Given the description of an element on the screen output the (x, y) to click on. 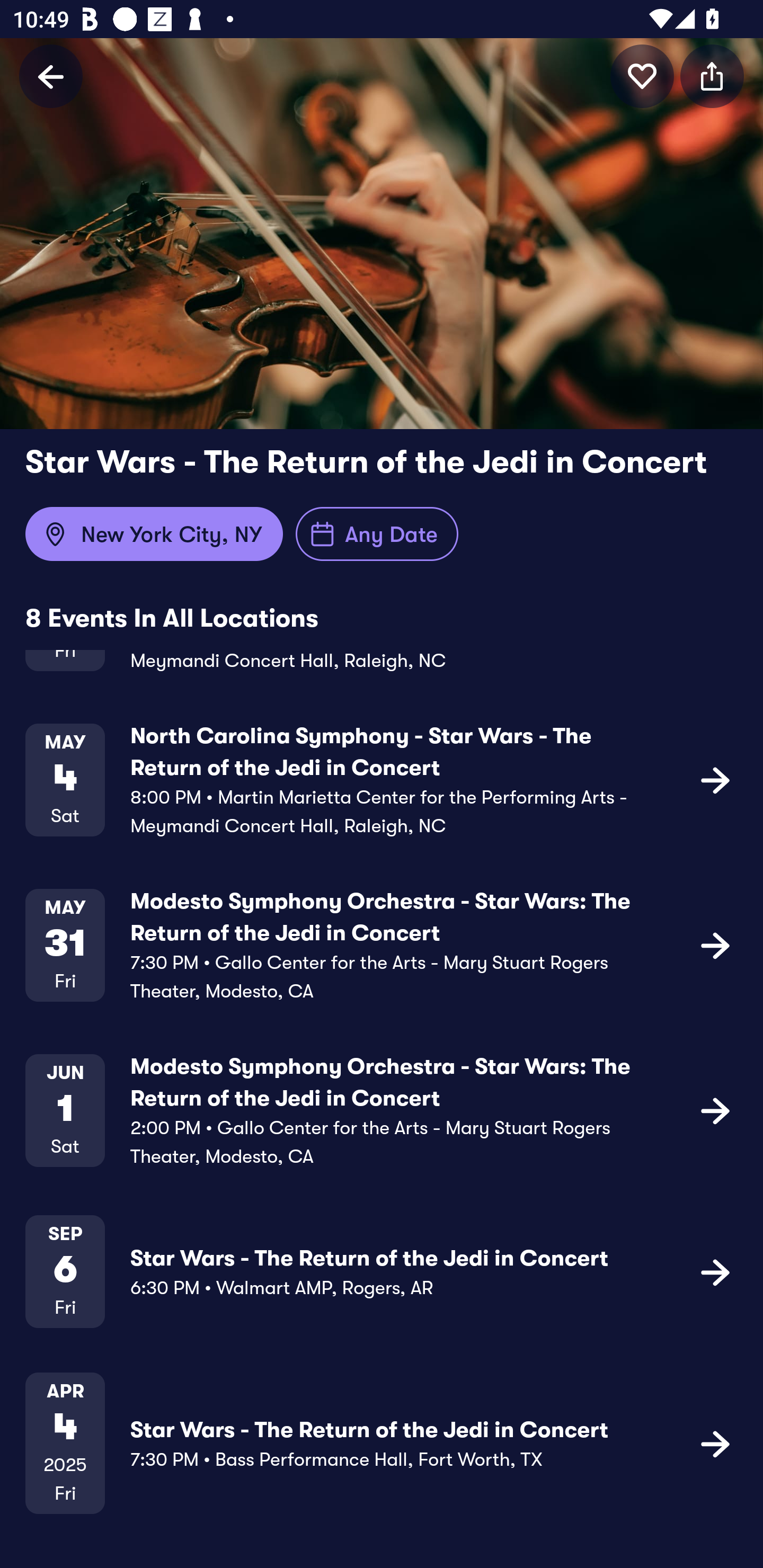
Back (50, 75)
icon button (641, 75)
icon button (711, 75)
New York City, NY (153, 533)
Any Date (377, 533)
icon button (714, 779)
icon button (714, 945)
icon button (714, 1110)
icon button (714, 1271)
icon button (714, 1443)
